Given the description of an element on the screen output the (x, y) to click on. 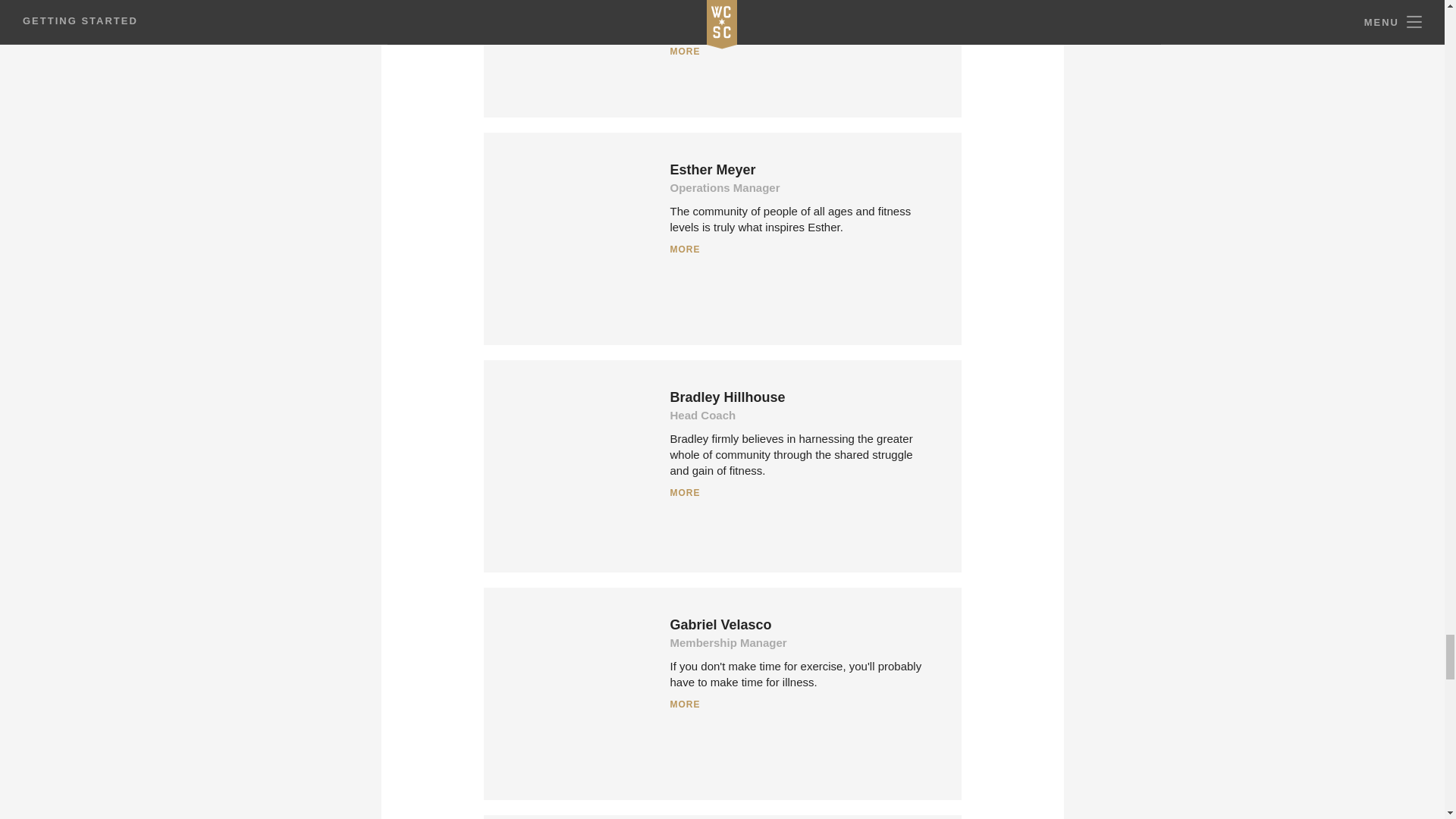
MORE (801, 51)
MORE (801, 492)
MORE (801, 704)
MORE (801, 249)
